Given the description of an element on the screen output the (x, y) to click on. 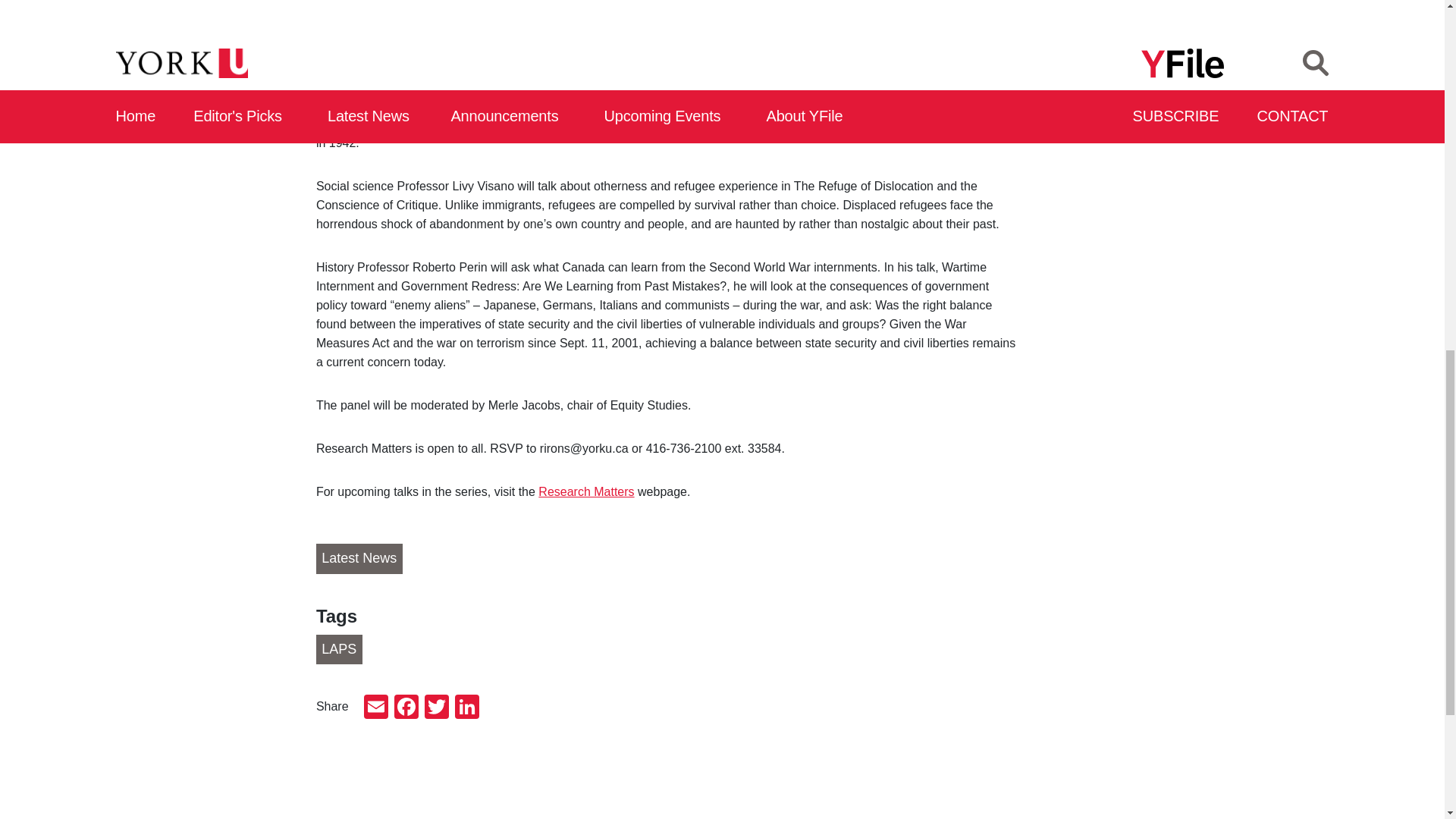
Email (376, 708)
Facebook (406, 708)
Research Matters (585, 491)
Twitter (436, 708)
Facebook (406, 708)
Latest News (359, 558)
LinkedIn (466, 708)
Email (376, 708)
LAPS (338, 649)
